Given the description of an element on the screen output the (x, y) to click on. 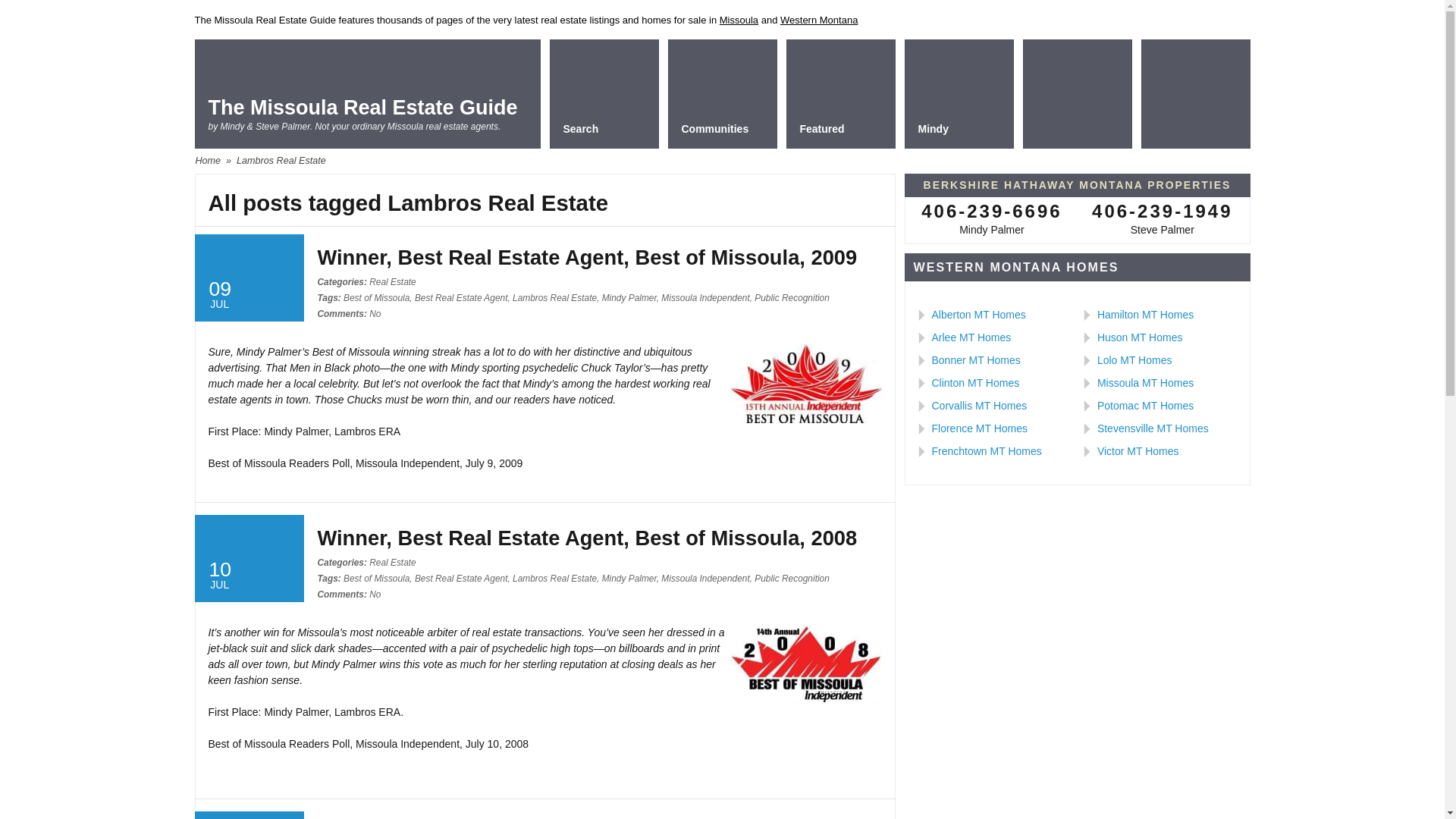
Homes for sale in Corvallis, MT (978, 405)
Homes for sale in Arlee, MT (970, 337)
Homes for sale in Lolo, MT (1134, 359)
Best of Missoula (376, 578)
July 9, 2009 (247, 277)
Public Recognition (791, 578)
Real Estate (391, 281)
Comments: No (348, 593)
Western Montana (818, 19)
Homes for sale in Florence, MT (979, 428)
Mindy Palmer (629, 297)
Mindy (958, 93)
Winner, Best Real Estate Agent, Best of Missoula, 2008 (587, 537)
The Missoula Real Estate Guide (362, 107)
Homes for sale in Bonner, MT (975, 359)
